Given the description of an element on the screen output the (x, y) to click on. 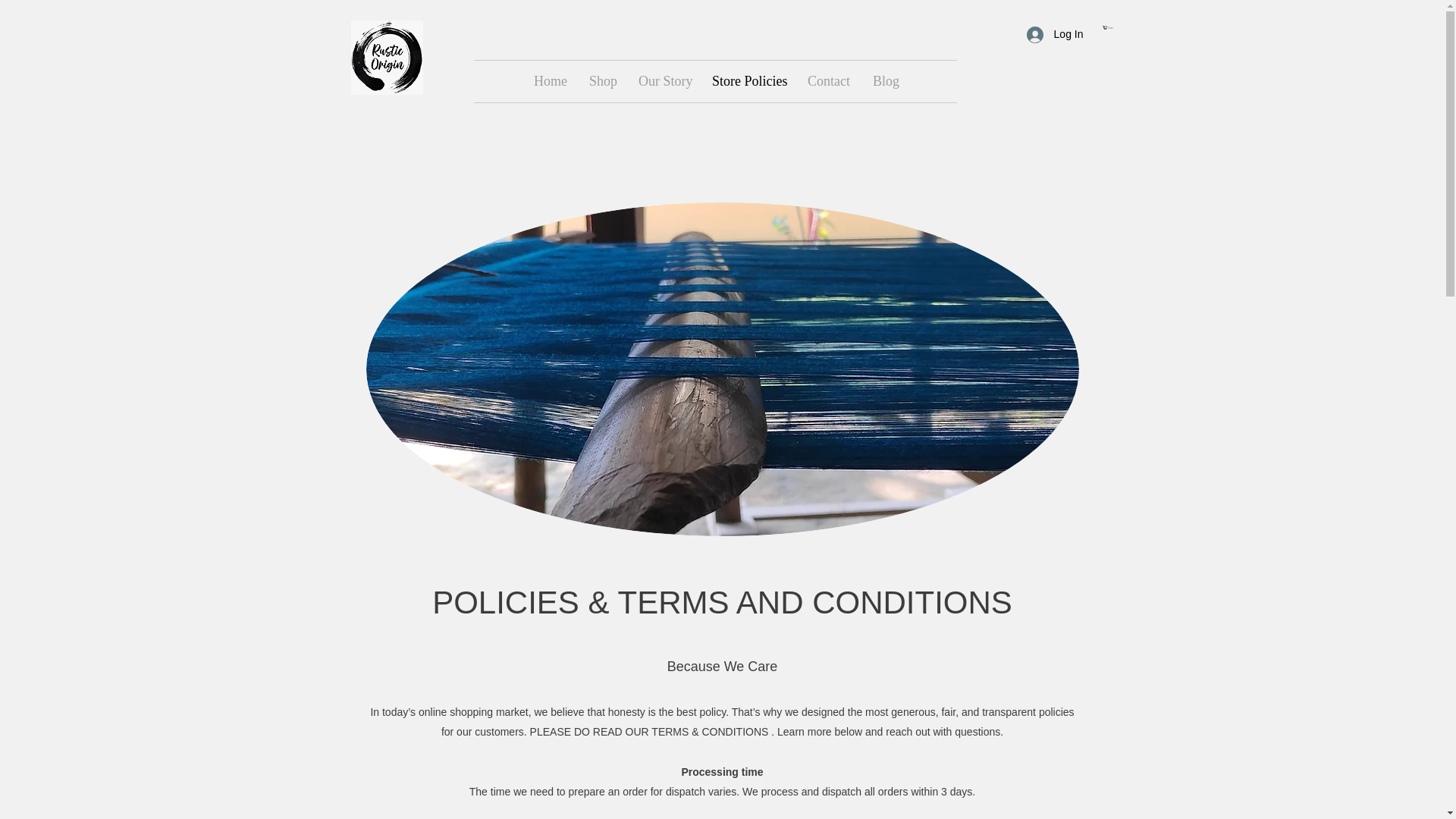
Our Story (602, 81)
Blog (663, 81)
Contact (884, 81)
Log In (550, 81)
Store Policies (828, 81)
